Given the description of an element on the screen output the (x, y) to click on. 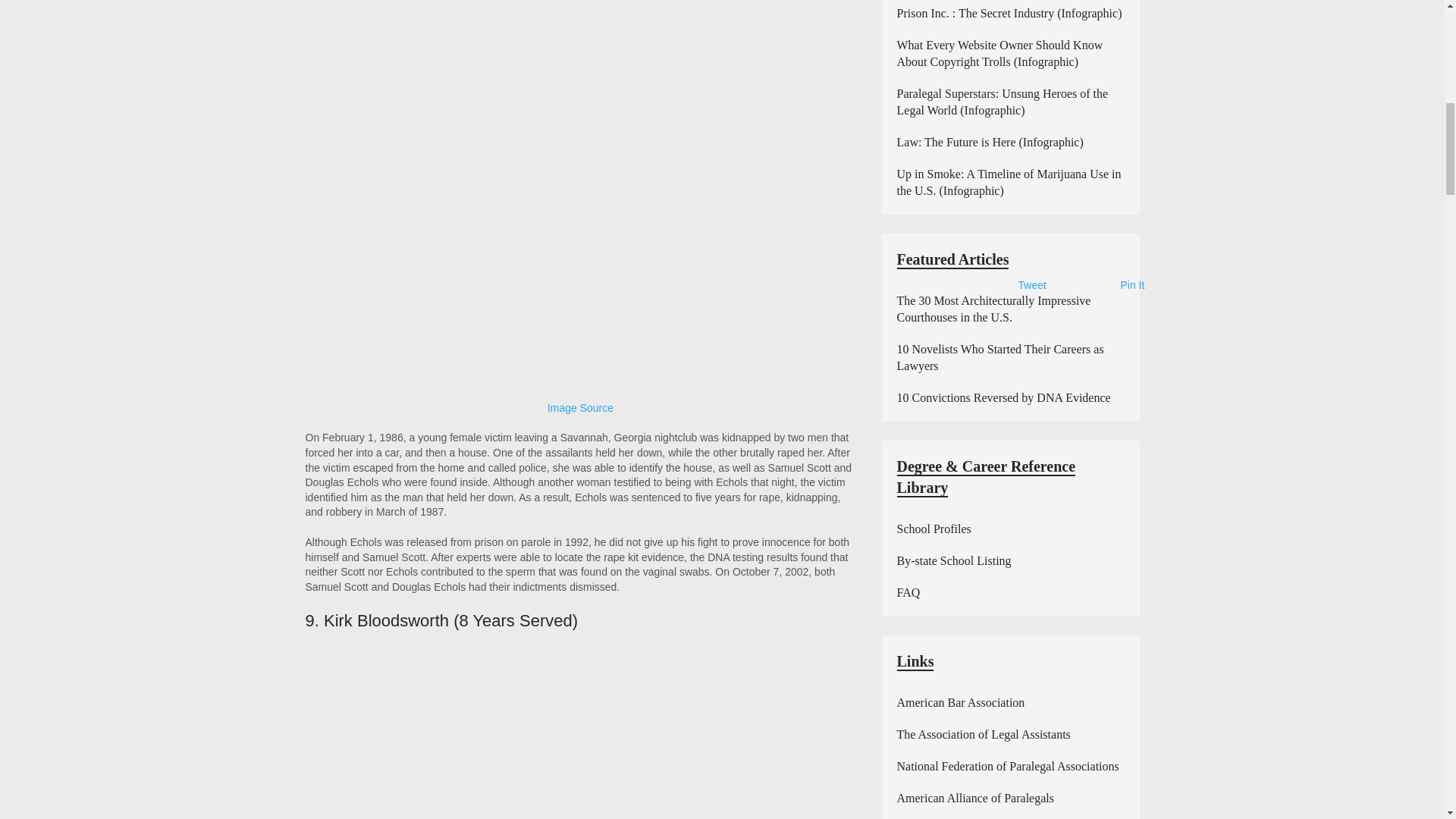
FAQ (908, 592)
10 Convictions Reversed by DNA Evidence (1002, 397)
By-state School Listing (953, 560)
School Profiles (933, 528)
National Federation of Paralegal Associations (1007, 766)
Image Source (579, 408)
10 Novelists Who Started Their Careers as Lawyers (999, 357)
American Bar Association (960, 702)
The Association of Legal Assistants (983, 734)
